Given the description of an element on the screen output the (x, y) to click on. 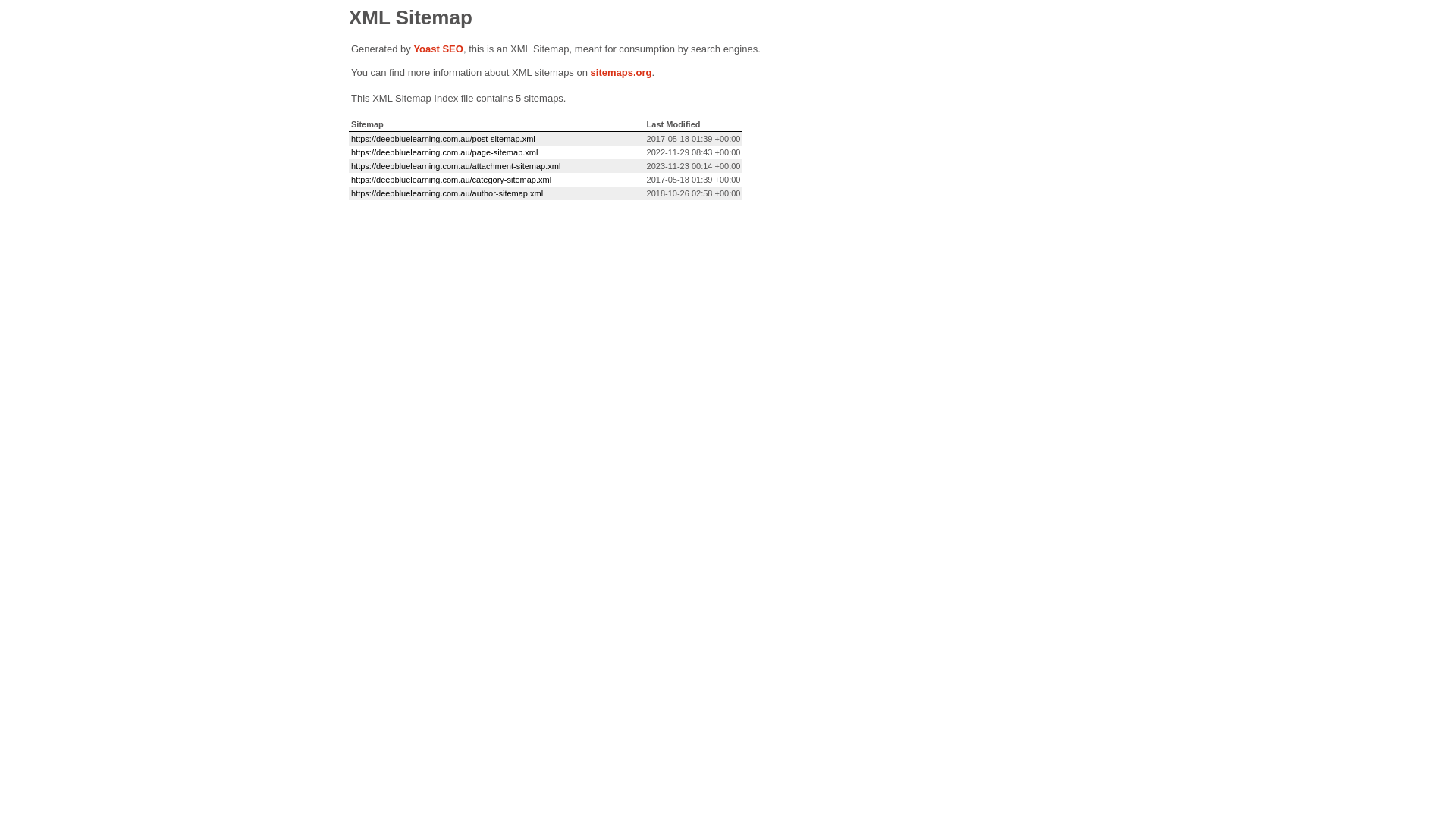
https://deepbluelearning.com.au/page-sitemap.xml Element type: text (444, 151)
sitemaps.org Element type: text (621, 72)
Yoast SEO Element type: text (438, 48)
https://deepbluelearning.com.au/category-sitemap.xml Element type: text (451, 179)
https://deepbluelearning.com.au/author-sitemap.xml Element type: text (446, 192)
https://deepbluelearning.com.au/post-sitemap.xml Element type: text (443, 138)
https://deepbluelearning.com.au/attachment-sitemap.xml Element type: text (455, 165)
